Given the description of an element on the screen output the (x, y) to click on. 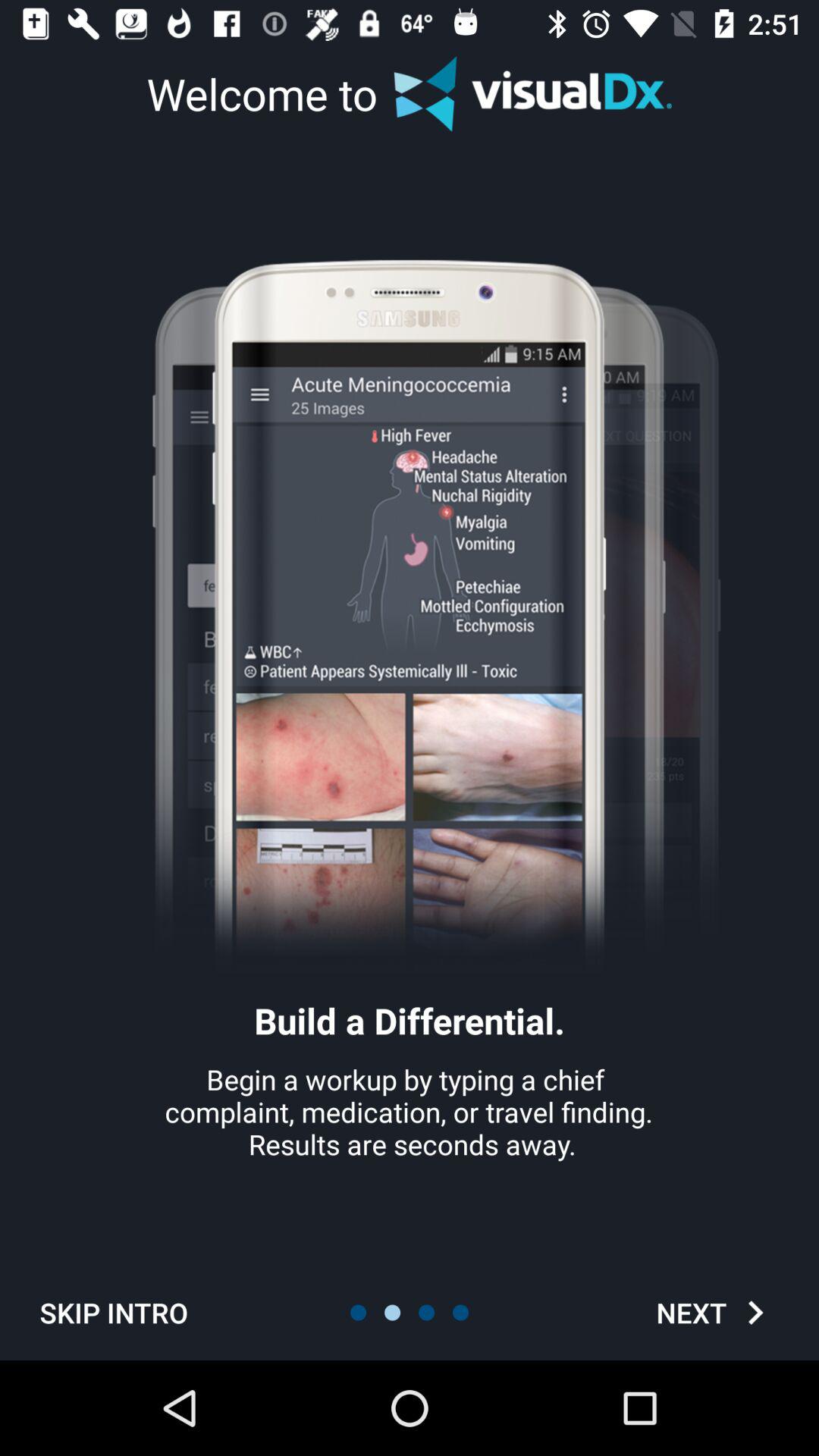
turn off the item at the bottom right corner (715, 1312)
